Given the description of an element on the screen output the (x, y) to click on. 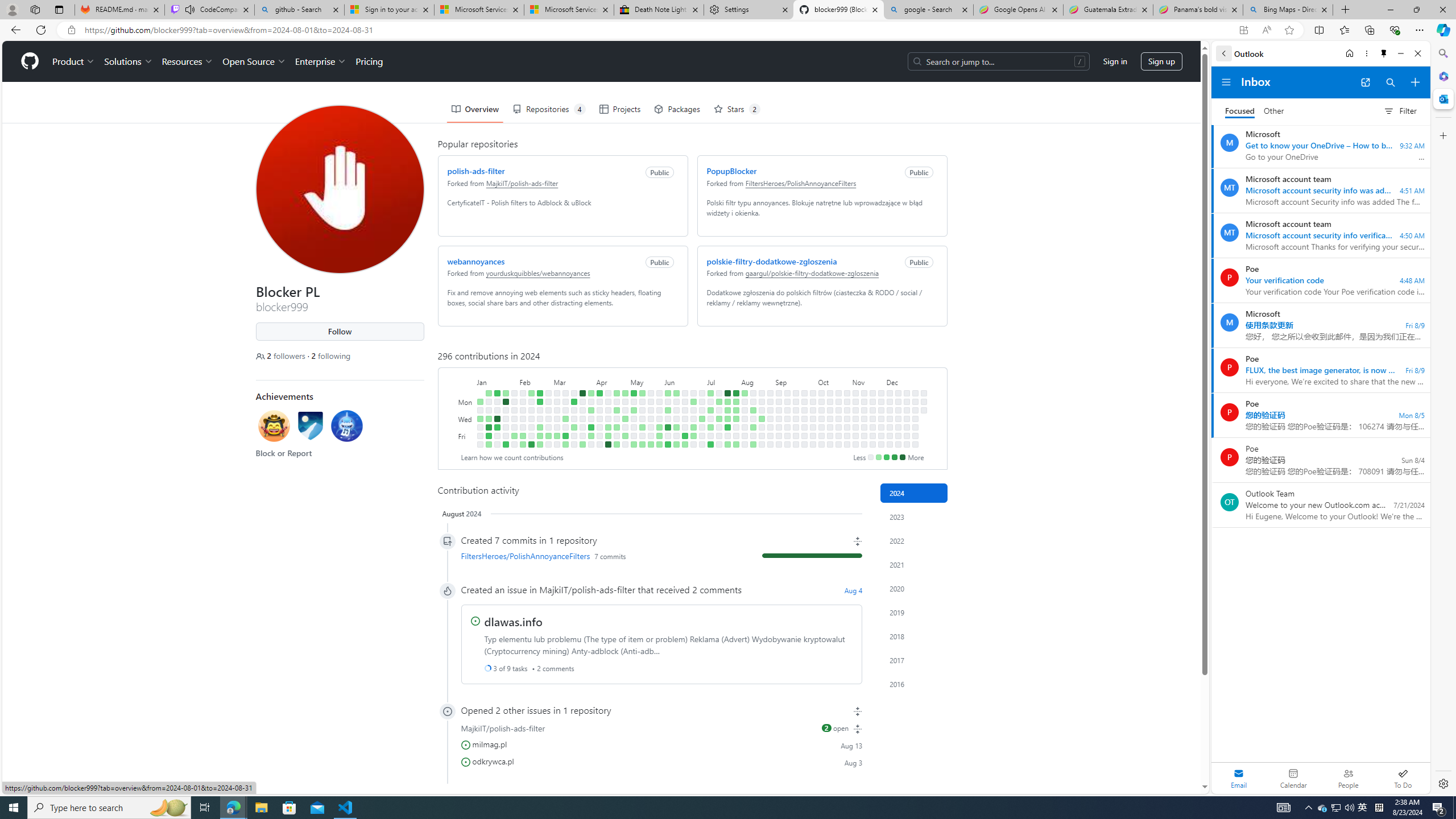
No contributions on March 6th. (556, 418)
3 contributions on March 1st. (547, 435)
6 contributions on January 12th. (488, 435)
Achievement: Pull Shark (346, 425)
No contributions on October 20th. (837, 392)
2021 (913, 564)
Mute tab (189, 8)
No contributions on December 10th. (897, 410)
No contributions on March 23rd. (573, 444)
No contributions on October 30th. (846, 418)
No contributions on August 10th. (744, 444)
3 contributions on March 30th. (582, 444)
